Given the description of an element on the screen output the (x, y) to click on. 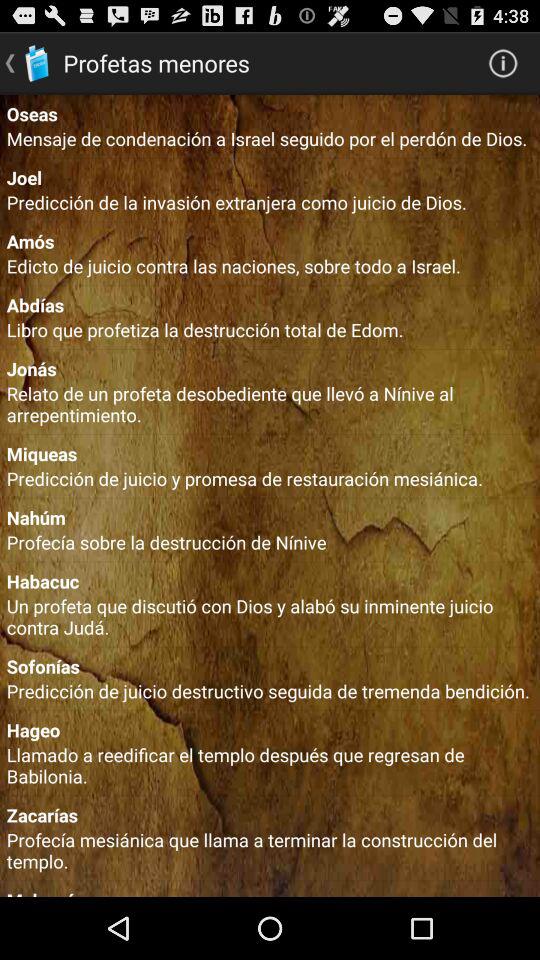
launch app above the edicto de juicio app (269, 240)
